Given the description of an element on the screen output the (x, y) to click on. 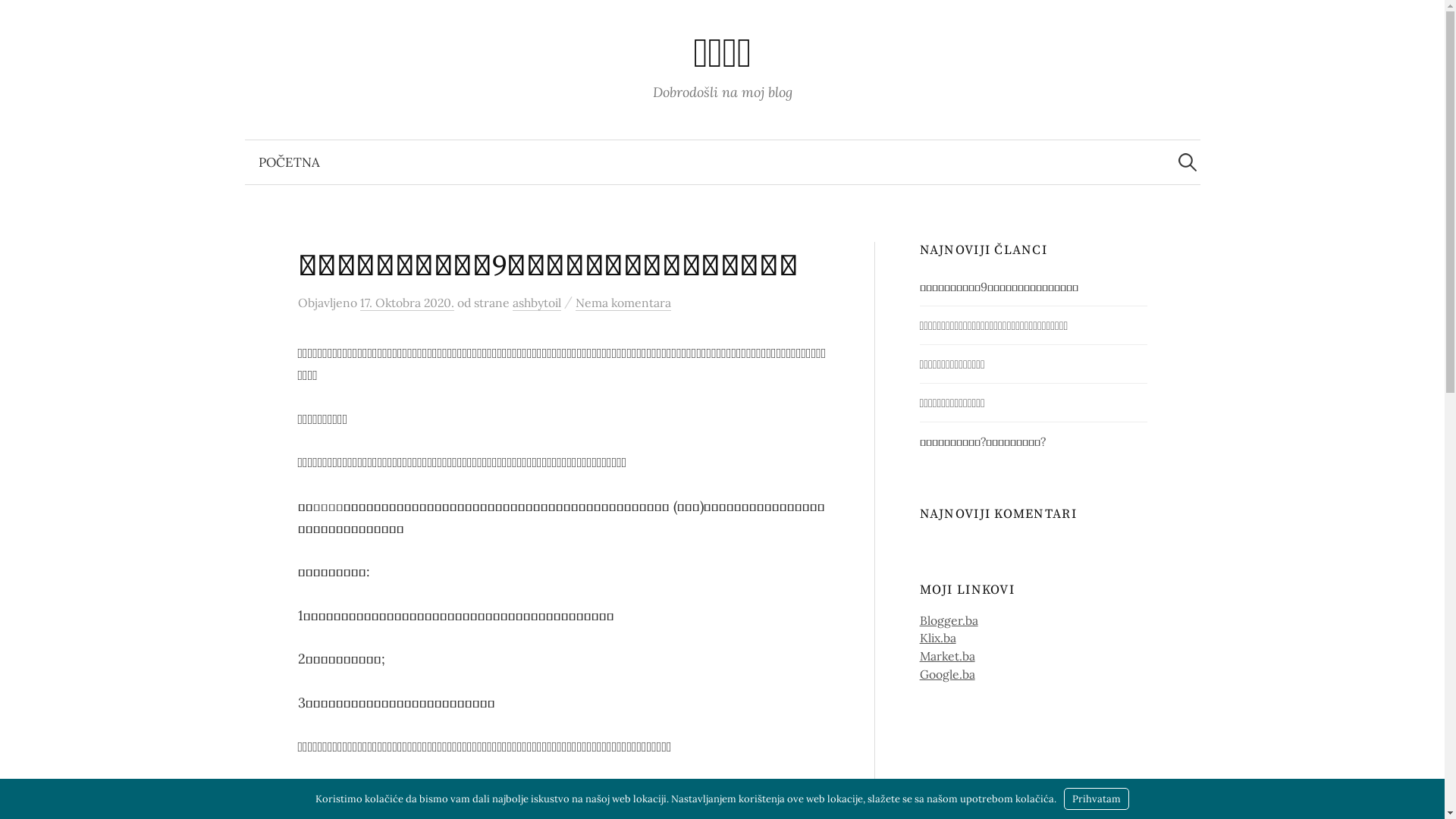
Pretraga Element type: text (18, 18)
Prihvatam Element type: text (1096, 798)
Market.ba Element type: text (947, 655)
Google.ba Element type: text (947, 673)
17. Oktobra 2020. Element type: text (406, 302)
ashbytoil Element type: text (536, 302)
Blogger.ba Element type: text (948, 619)
Klix.ba Element type: text (937, 637)
